Given the description of an element on the screen output the (x, y) to click on. 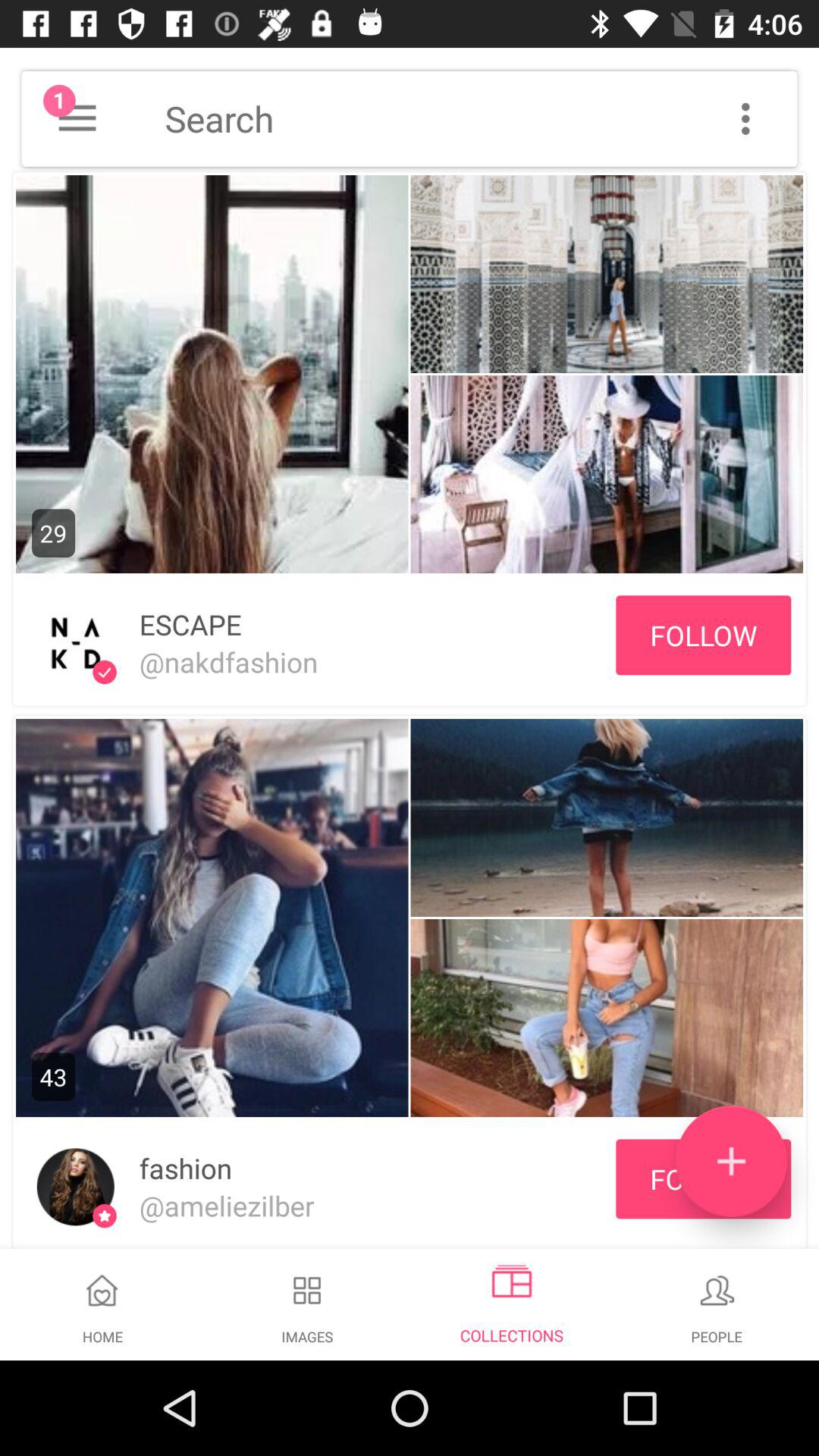
open menu (77, 118)
